Given the description of an element on the screen output the (x, y) to click on. 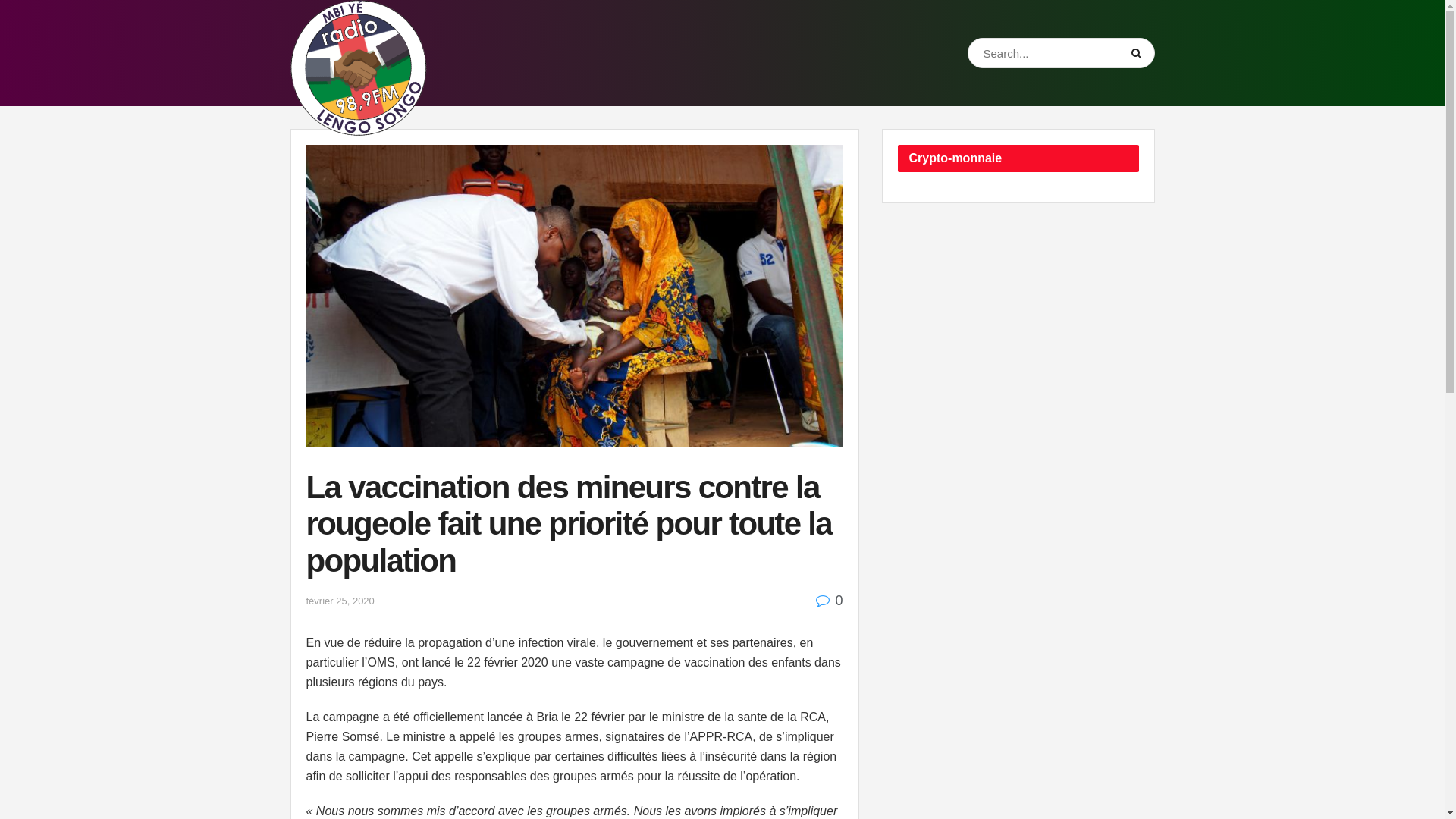
0 Element type: text (828, 600)
